Given the description of an element on the screen output the (x, y) to click on. 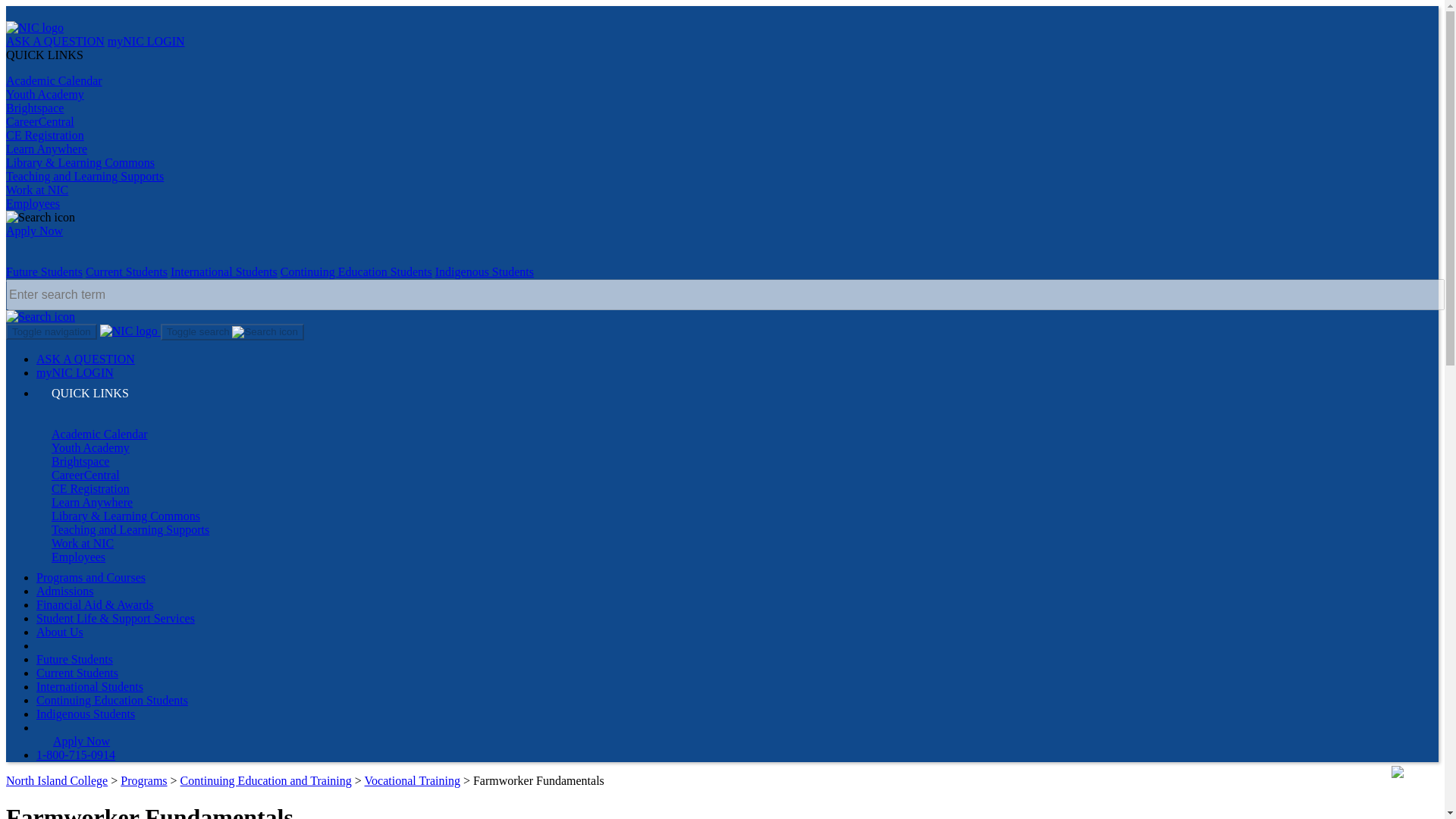
Admissions (65, 590)
ASK A QUESTION (85, 358)
Teaching and Learning Supports (84, 175)
Youth Academy (44, 93)
International Students (224, 271)
Toggle search (232, 331)
Current Students (126, 271)
ASK A QUESTION (54, 41)
CareerCentral (39, 121)
Employees (32, 203)
Indigenous Students (484, 271)
Youth Academy (89, 447)
myNIC LOGIN (145, 41)
Future Students (43, 271)
Work at NIC (81, 543)
